Given the description of an element on the screen output the (x, y) to click on. 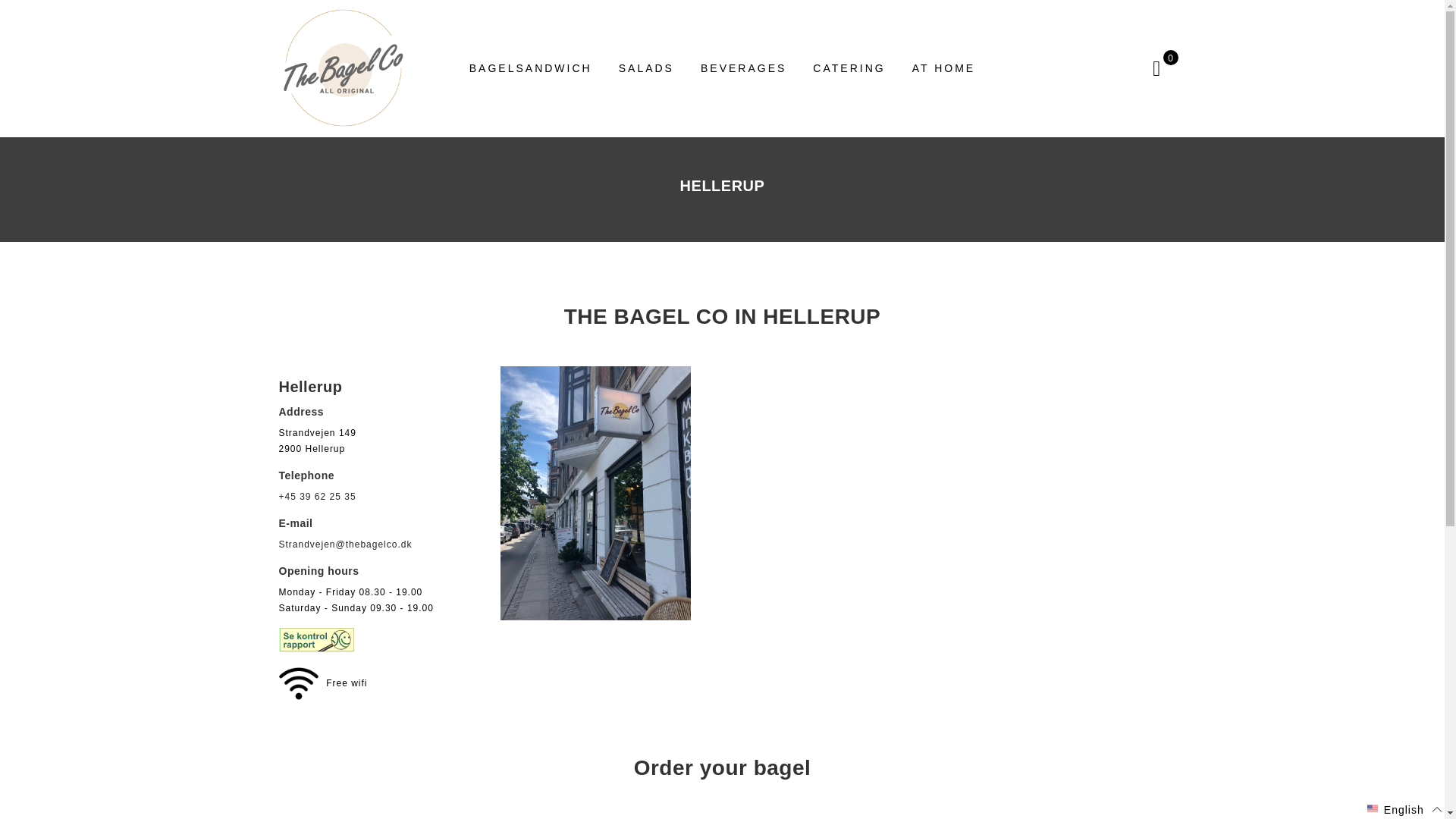
AT HOME (943, 68)
BEVERAGES (743, 68)
CATERING (848, 68)
SALADS (646, 68)
BAGELSANDWICH (530, 68)
